Given the description of an element on the screen output the (x, y) to click on. 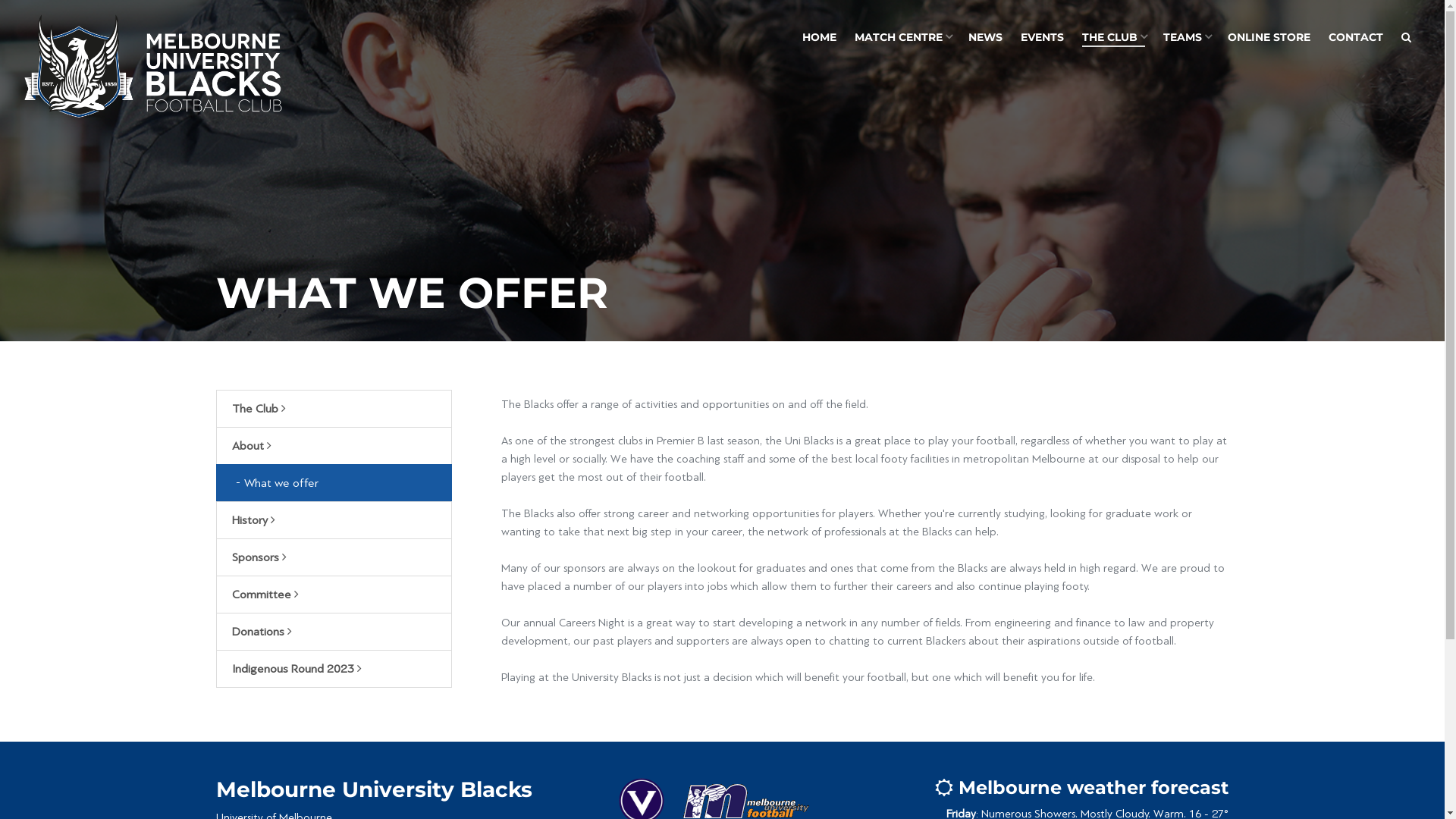
CONTACT Element type: text (1355, 37)
Donations  Element type: text (333, 631)
TEAMS Element type: text (1186, 37)
About  Element type: text (333, 445)
MATCH CENTRE Element type: text (902, 37)
NEWS Element type: text (985, 37)
 Melbourne weather forecast Element type: text (1081, 787)
Search Element type: hover (1406, 37)
HOME Element type: text (819, 37)
The Club  Element type: text (333, 408)
History  Element type: text (333, 520)
What we offer Element type: text (333, 482)
ONLINE STORE Element type: text (1268, 37)
THE CLUB Element type: text (1113, 38)
Sponsors  Element type: text (333, 557)
Indigenous Round 2023  Element type: text (333, 668)
EVENTS Element type: text (1042, 37)
Committee  Element type: text (333, 594)
